Given the description of an element on the screen output the (x, y) to click on. 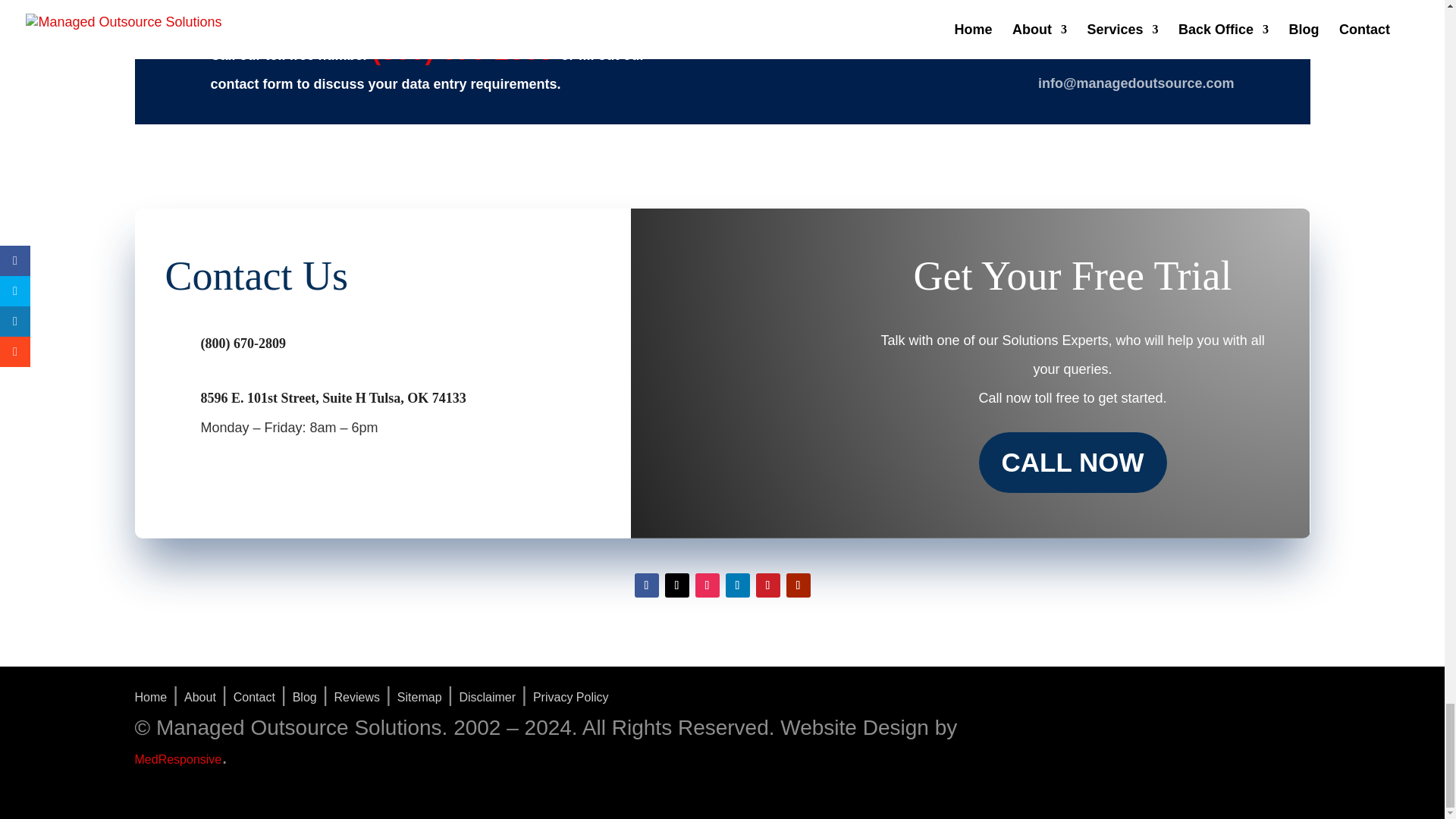
Get Your Free Trial (1072, 279)
Follow on Instagram (706, 585)
Follow on X (675, 585)
Follow on Youtube (797, 585)
Follow on LinkedIn (737, 585)
Follow on Pinterest (766, 585)
Contact Us (350, 279)
Follow on Facebook (645, 585)
